Given the description of an element on the screen output the (x, y) to click on. 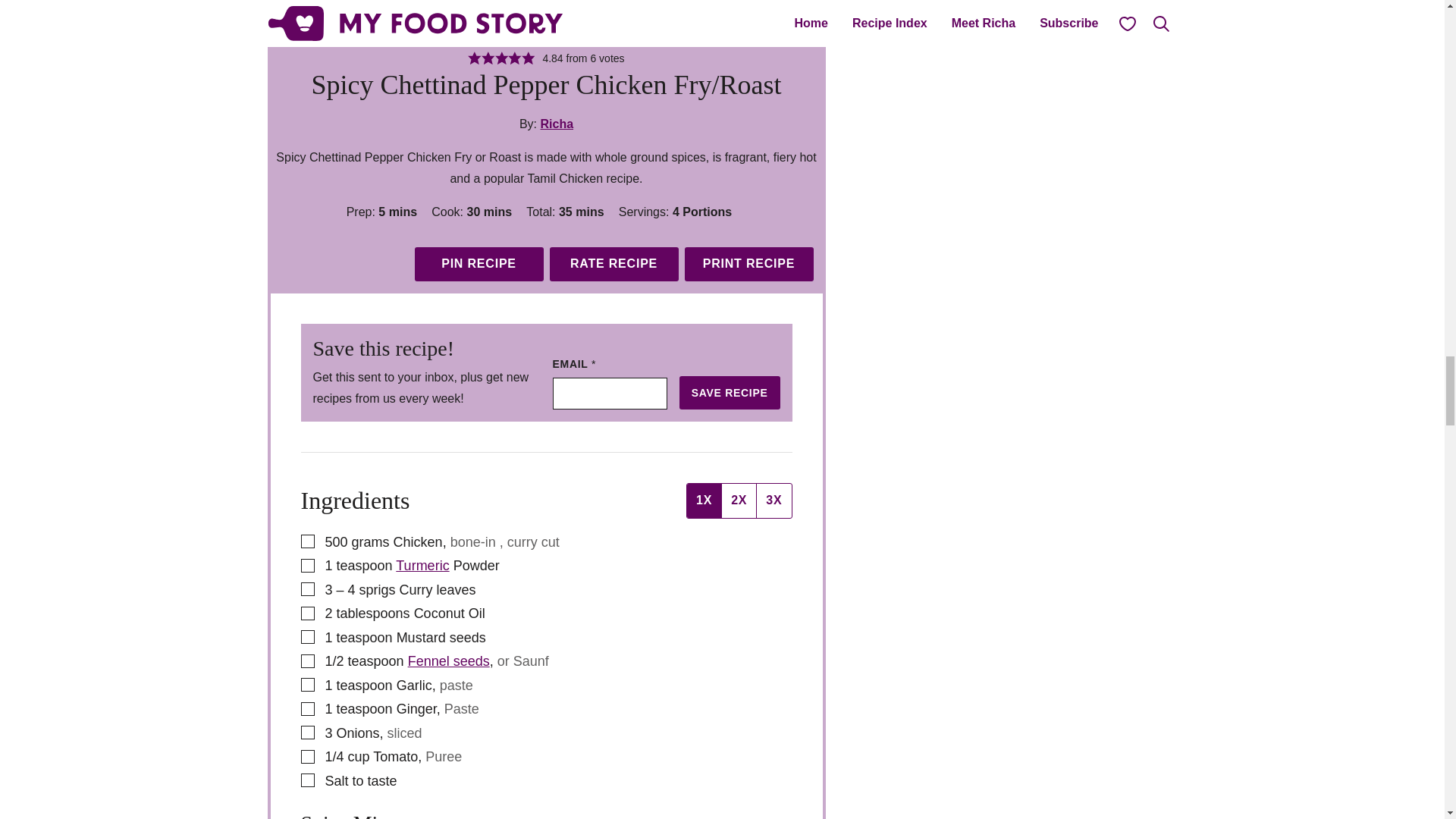
Turmeric (422, 565)
2X (737, 500)
1X (703, 500)
Richa (556, 123)
RATE RECIPE (613, 263)
SAVE RECIPE (729, 392)
PRINT RECIPE (748, 263)
3X (772, 500)
PIN RECIPE (478, 263)
